Given the description of an element on the screen output the (x, y) to click on. 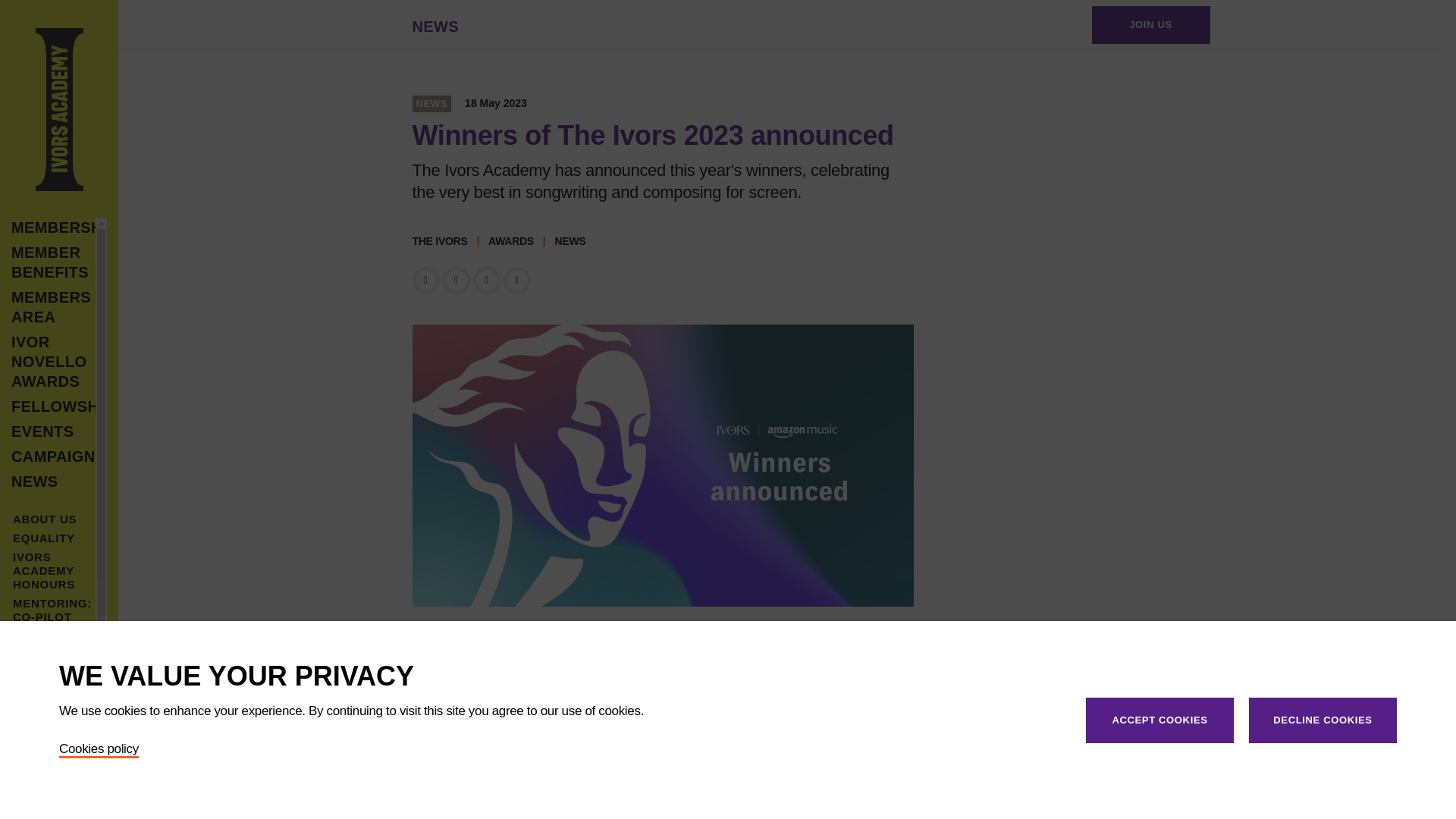
MENTORING: CO-PILOT (52, 610)
MEMBERSHIP (53, 227)
FELLOWSHIP (53, 406)
IVOR NOVELLO AWARDS (53, 361)
ABOUT US (45, 518)
CAMPAIGNS (53, 456)
MEMBERS AREA (53, 306)
EVENTS (53, 431)
MEMBER BENEFITS (53, 261)
EARLY CAREER NETWORK (44, 793)
NEWS (53, 481)
EQUALITY (44, 537)
INSIDE TRACK (34, 754)
THE IVORS ACADEMY TRUST (46, 681)
NEWS (436, 24)
